Given the description of an element on the screen output the (x, y) to click on. 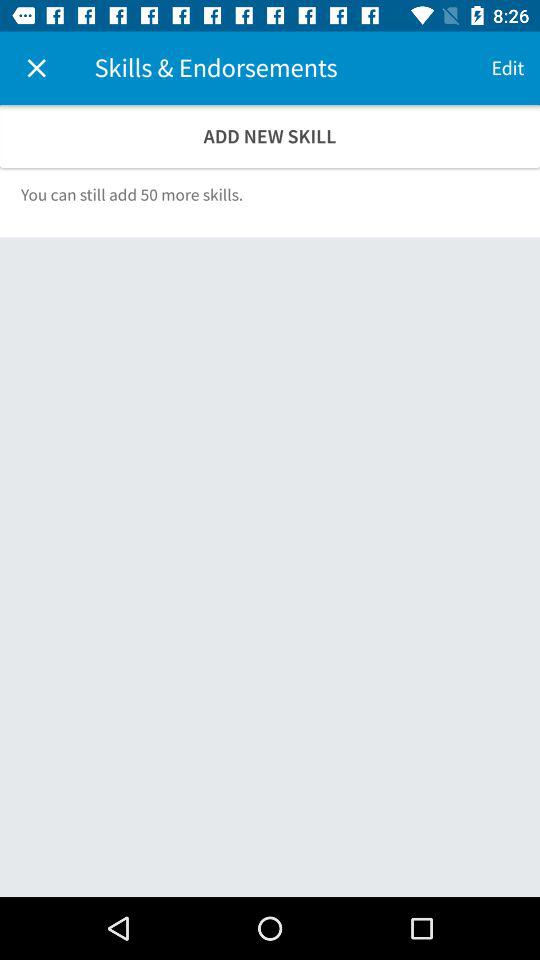
choose the icon to the left of skills & endorsements (36, 68)
